Given the description of an element on the screen output the (x, y) to click on. 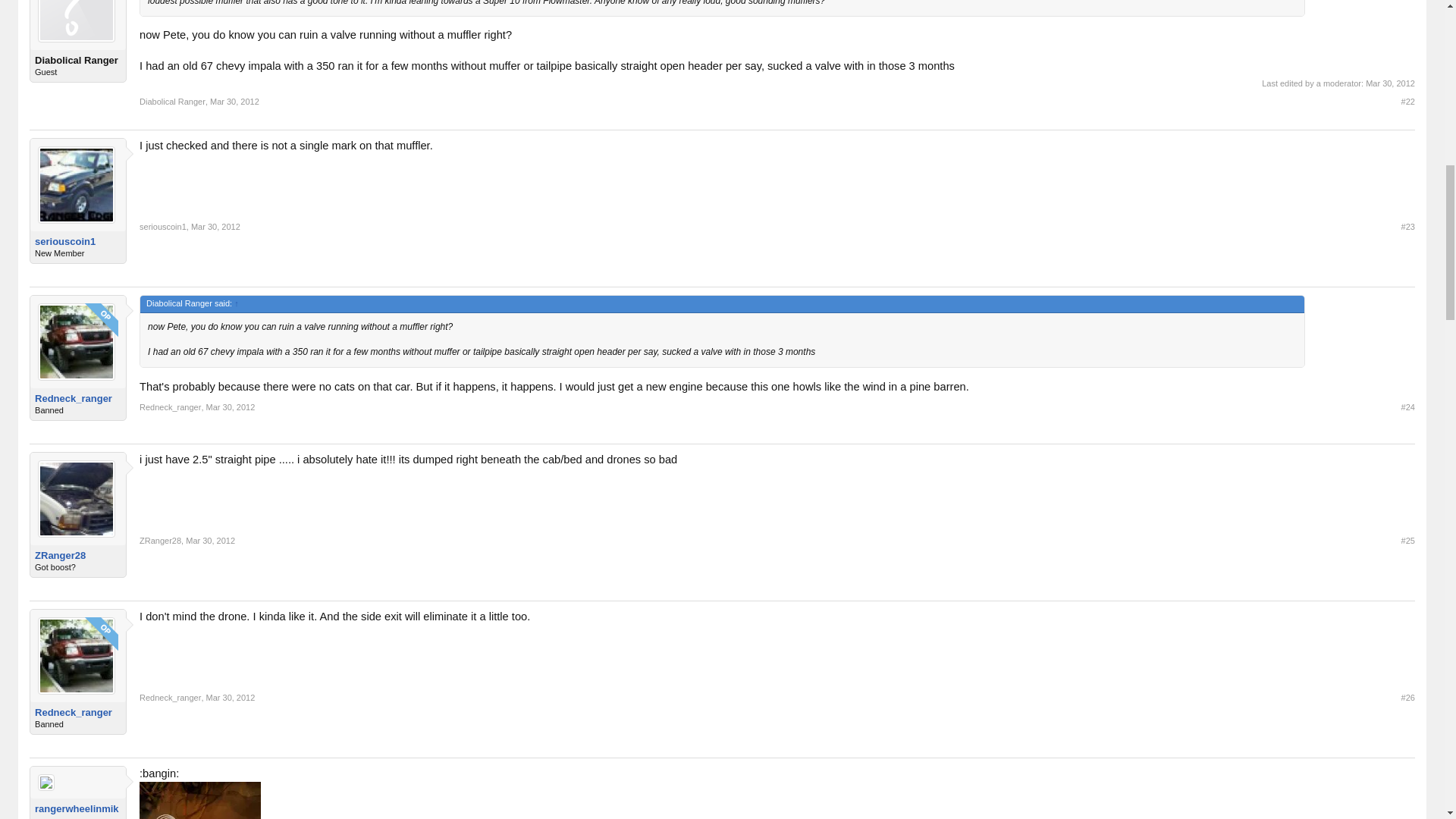
Mar 30, 2012 (234, 101)
Permalink (210, 540)
seriouscoin1 (77, 241)
Mar 30, 2012 (215, 225)
Permalink (1407, 226)
Permalink (1407, 101)
Permalink (1407, 407)
Permalink (1407, 540)
Permalink (215, 225)
Permalink (231, 406)
Diabolical Ranger (77, 60)
Mar 30, 2012 at 4:55 PM (1390, 82)
Permalink (231, 696)
seriouscoin1 (162, 225)
Diabolical Ranger (172, 101)
